Given the description of an element on the screen output the (x, y) to click on. 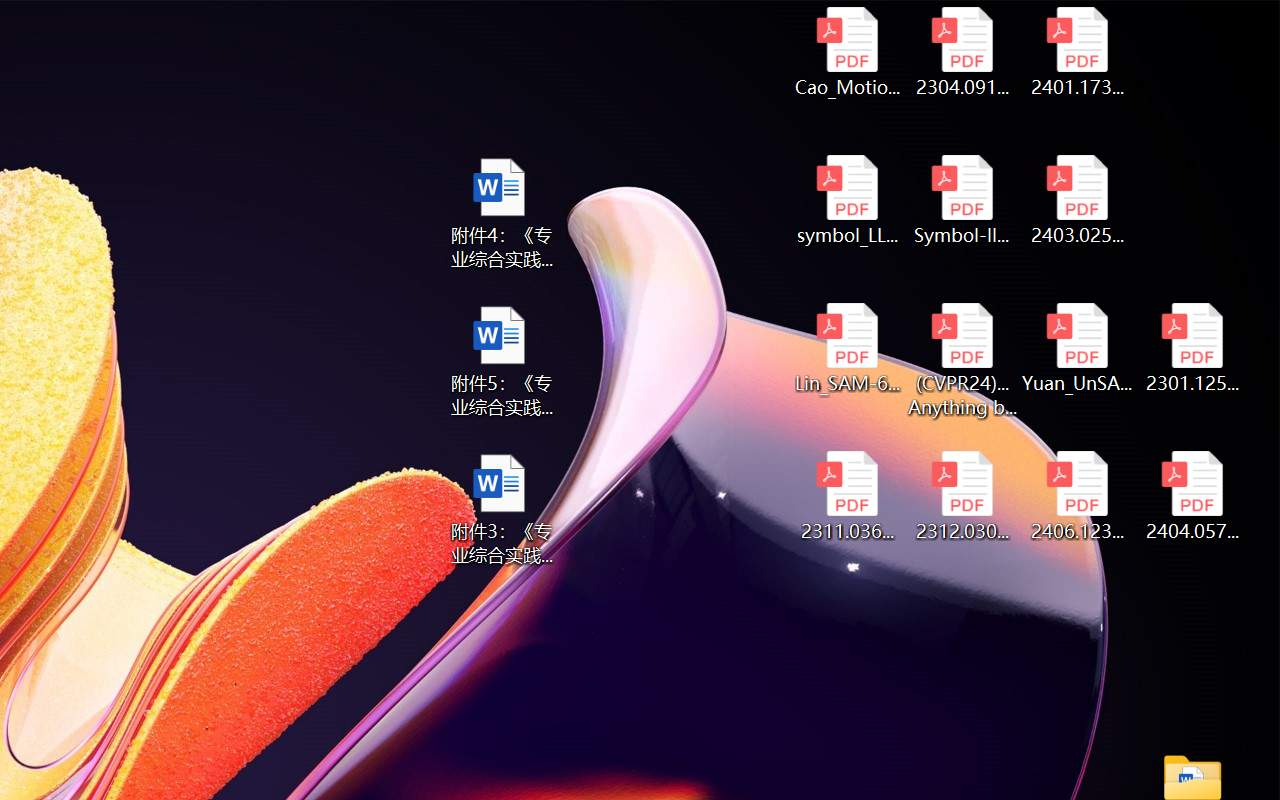
2312.03032v2.pdf (962, 496)
